Given the description of an element on the screen output the (x, y) to click on. 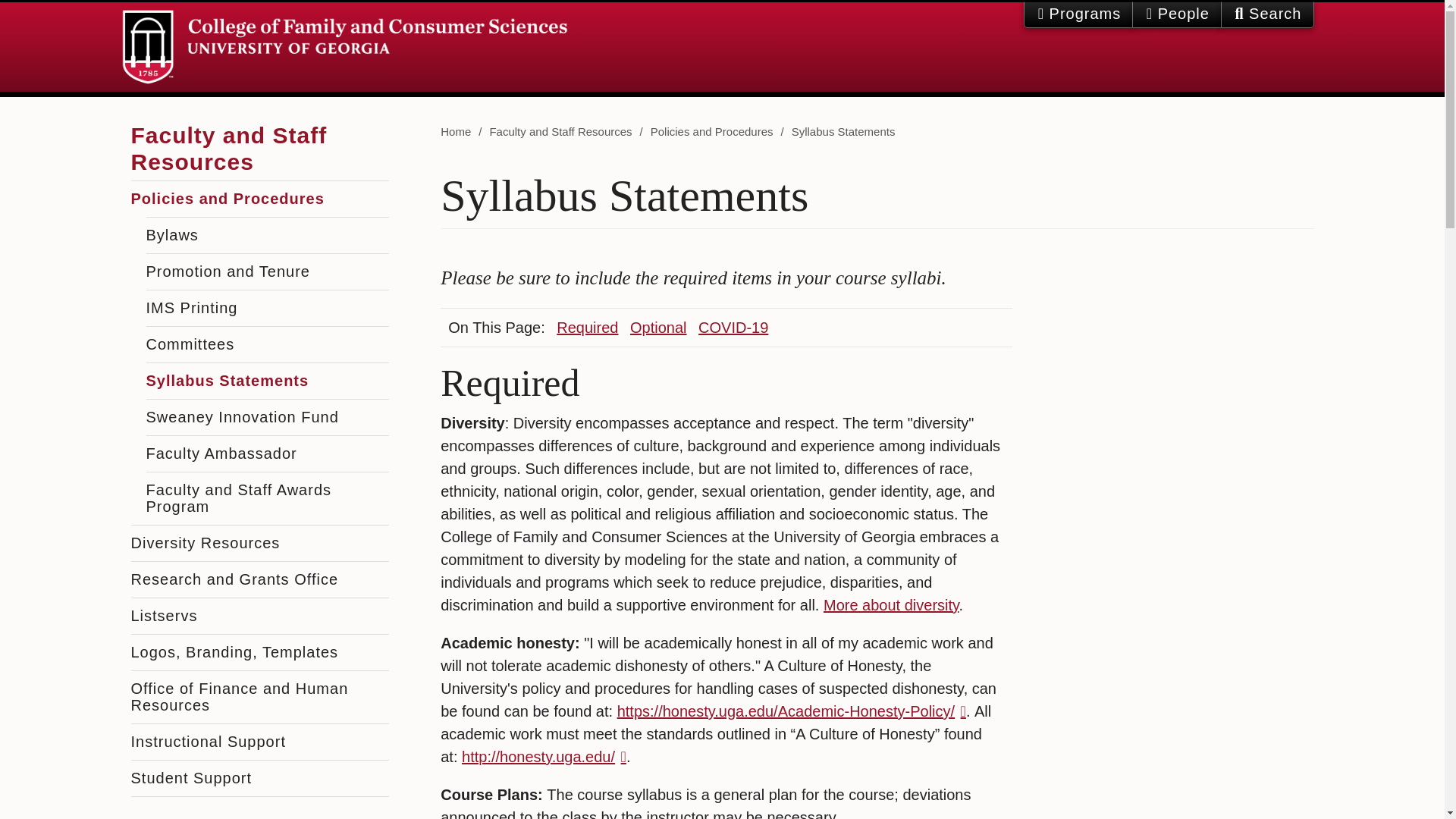
Search (1267, 14)
Logos, Branding, Templates (259, 652)
Faculty and Staff Awards Program (266, 498)
More about diversity (891, 605)
Sweaney Innovation Fund (266, 416)
Policies and Procedures (711, 131)
Faculty Ambassador (266, 453)
UGA College of Family and Consumer Sciences Home Page (344, 46)
Syllabus Statements (843, 131)
Optional (658, 327)
Required (586, 327)
COVID-19 (733, 327)
Search the College (1267, 13)
Syllabus Statements (266, 380)
IMS Printing (266, 307)
